Given the description of an element on the screen output the (x, y) to click on. 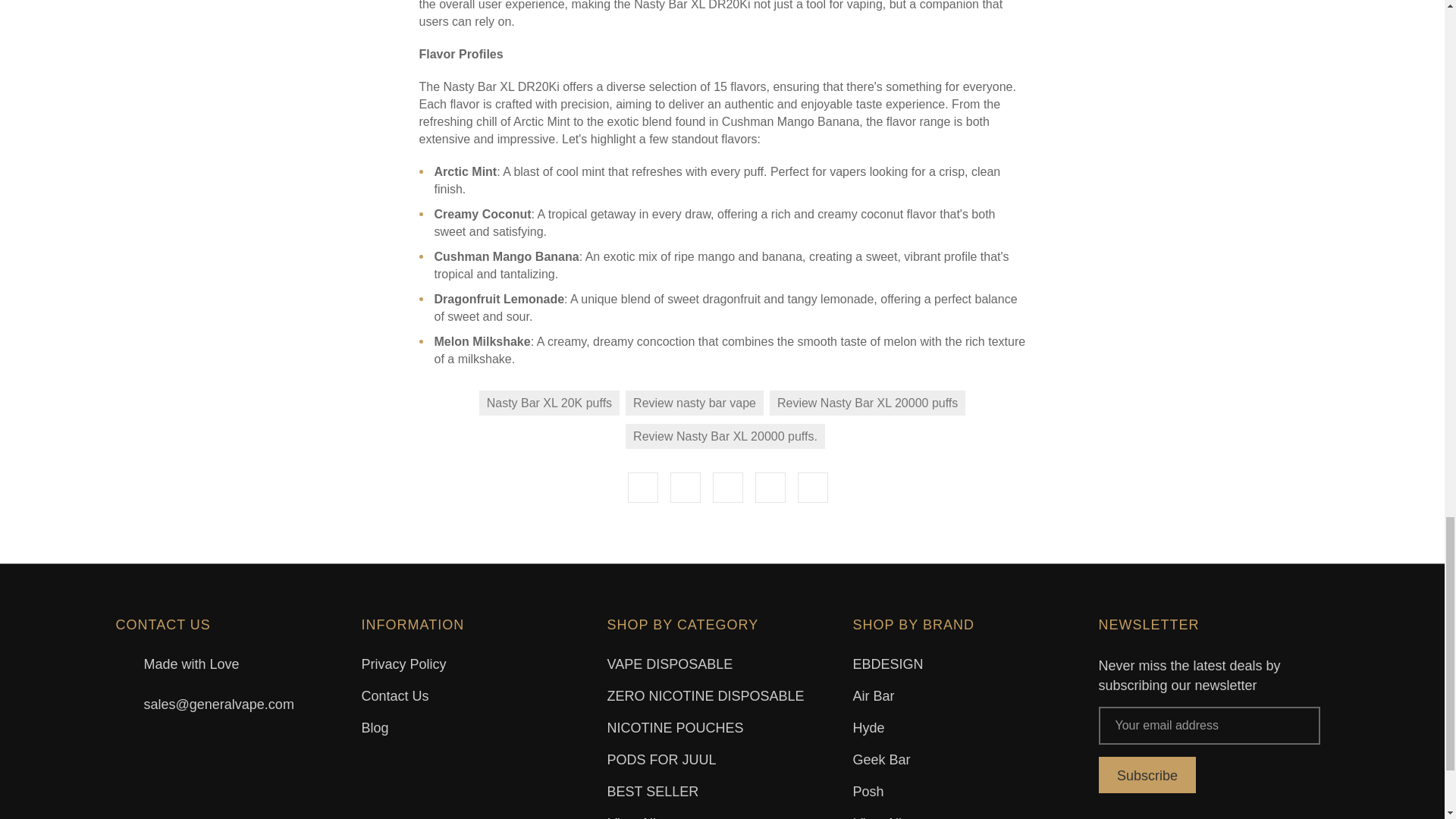
Subscribe (1146, 774)
Print (727, 487)
Email (684, 487)
Facebook (642, 487)
Twitter (770, 487)
Pinterest (812, 487)
